Given the description of an element on the screen output the (x, y) to click on. 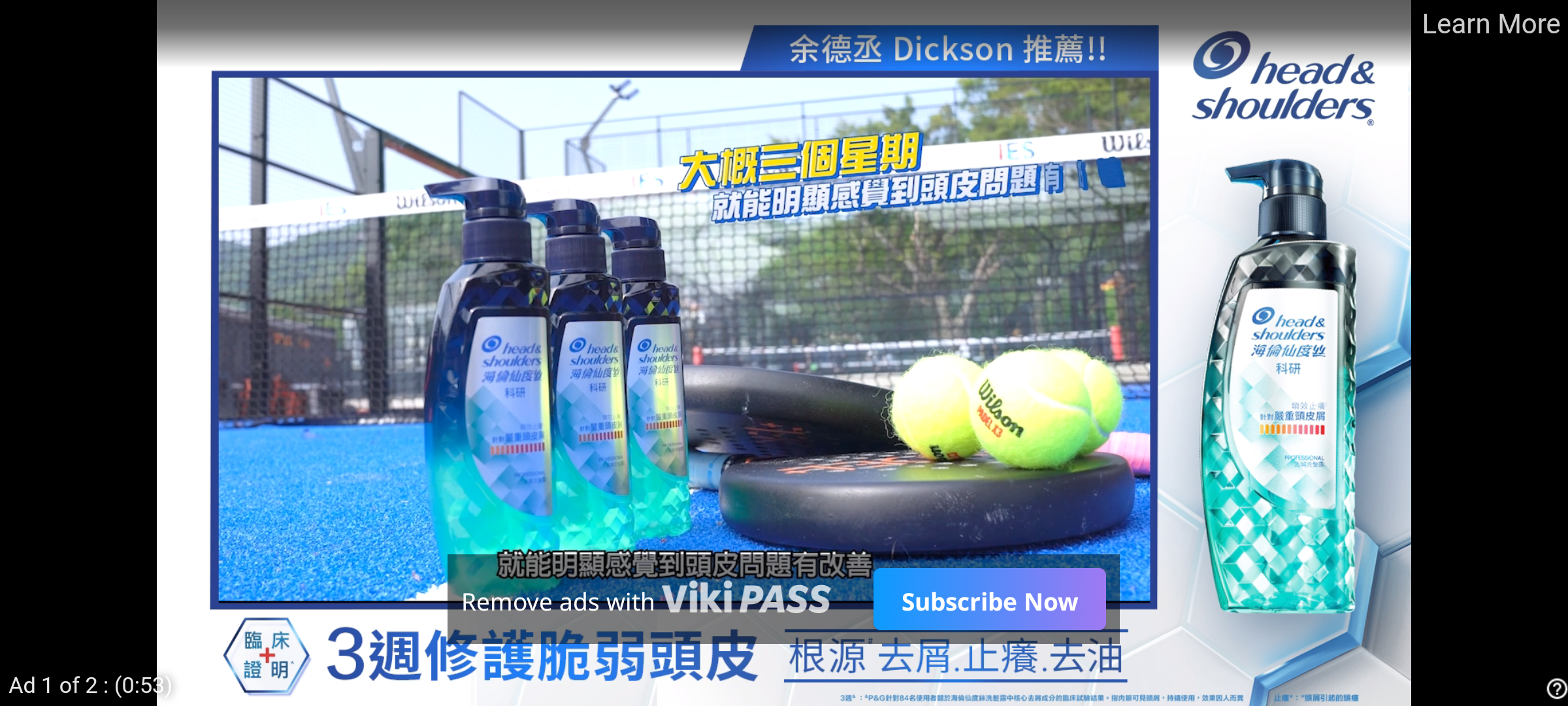
Learn More (1490, 24)
Subscribe Now (989, 599)
Ad 1 of 2 : (0:53) (90, 684)
help_outline_white_24dp_with_3px_trbl_padding (1553, 688)
